Given the description of an element on the screen output the (x, y) to click on. 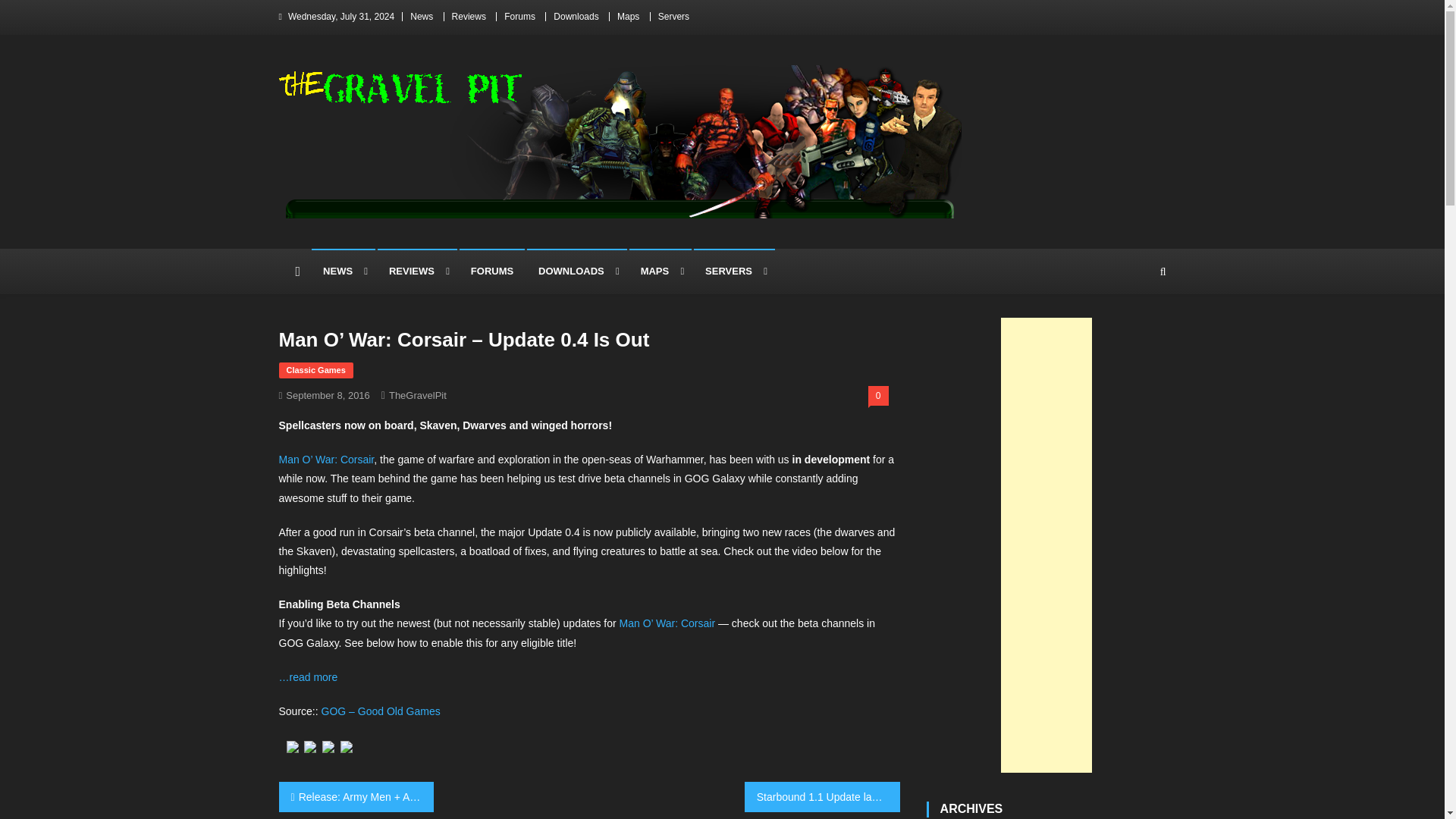
Maps (628, 16)
News (421, 16)
Downloads (575, 16)
Reviews (468, 16)
Servers (673, 16)
Forums (519, 16)
